Given the description of an element on the screen output the (x, y) to click on. 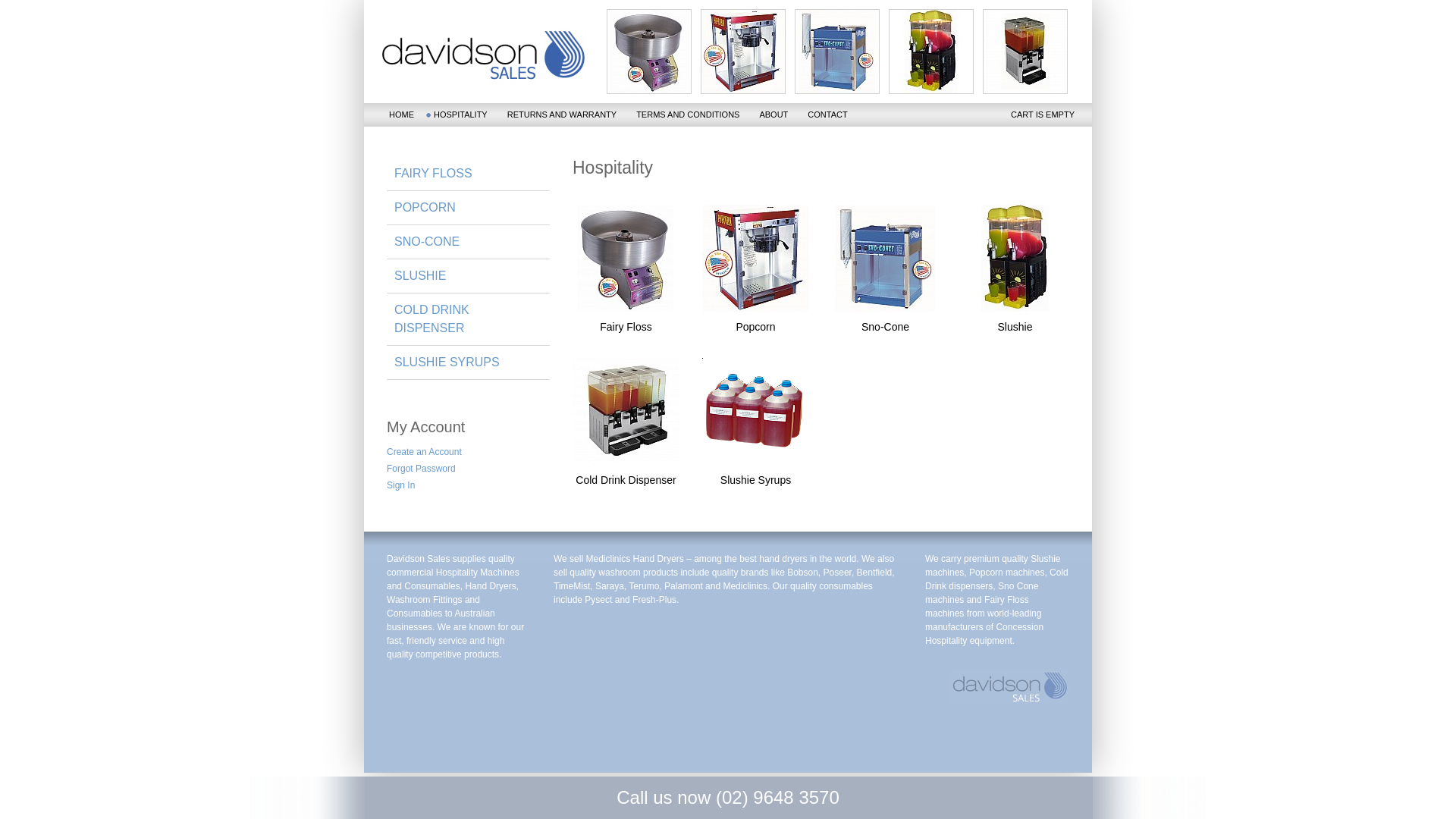
Sign In Element type: text (469, 484)
Popcorn Element type: text (755, 269)
SLUSHIE SYRUPS Element type: text (467, 362)
HOME Element type: text (401, 114)
Fairy Floss Element type: text (625, 269)
Create an Account Element type: text (469, 450)
CONTACT Element type: text (826, 114)
SNO-CONE Element type: text (467, 241)
ABOUT Element type: text (773, 114)
Sno-Cone Element type: text (884, 269)
FAIRY FLOSS Element type: text (467, 173)
RETURNS AND WARRANTY Element type: text (561, 114)
Slushie Element type: text (1014, 269)
COLD DRINK DISPENSER Element type: text (467, 318)
Cold Drink Dispenser Element type: text (625, 422)
CART IS EMPTY Element type: text (1042, 114)
(02) 9648 3570 Element type: text (777, 797)
POPCORN Element type: text (467, 208)
Slushie Syrups Element type: text (755, 422)
TERMS AND CONDITIONS Element type: text (687, 114)
Forgot Password Element type: text (469, 467)
HOSPITALITY Element type: text (460, 114)
SLUSHIE Element type: text (467, 276)
